Given the description of an element on the screen output the (x, y) to click on. 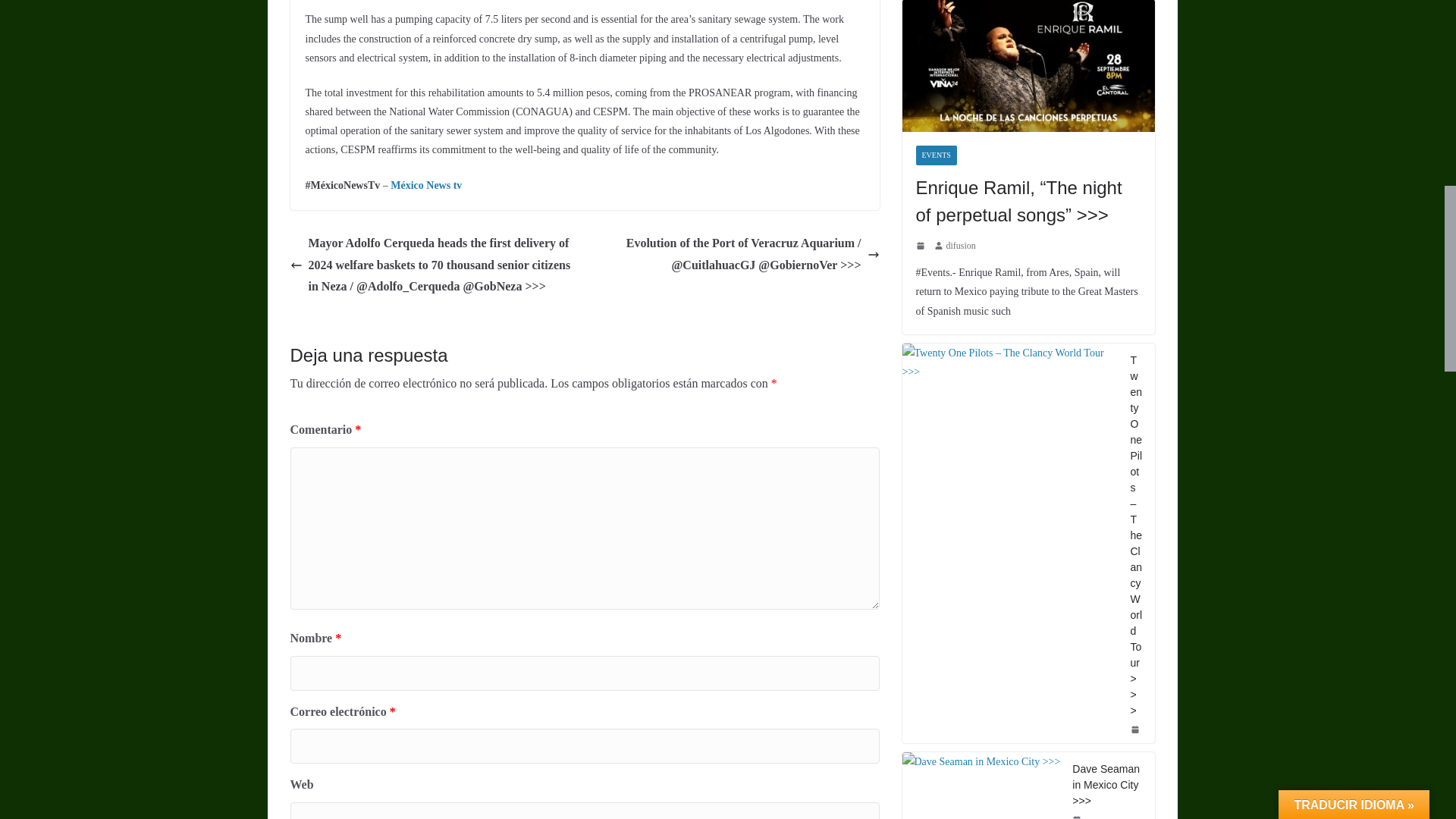
difusion (960, 246)
difusion (960, 246)
EVENTS (935, 155)
